Given the description of an element on the screen output the (x, y) to click on. 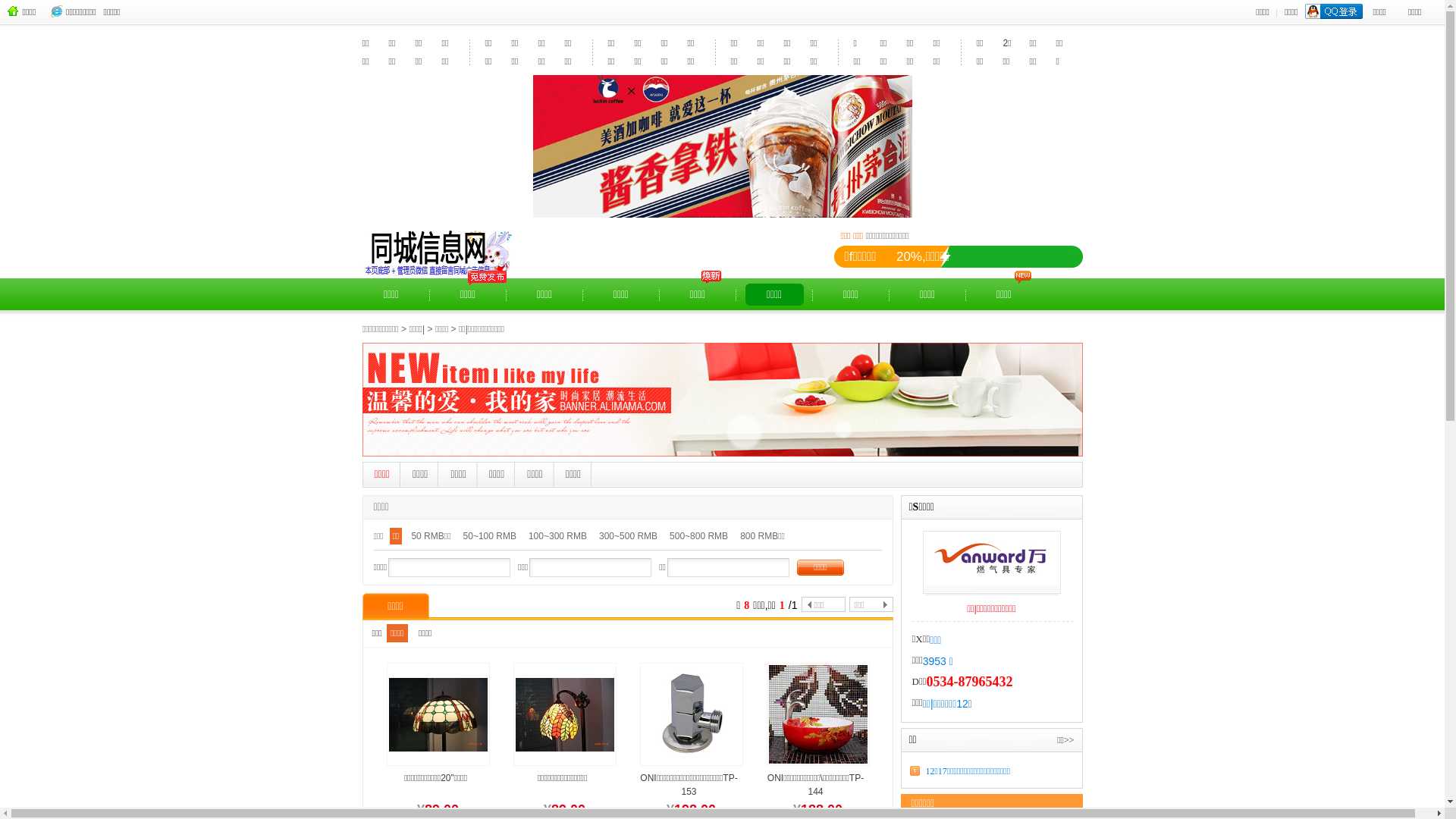
300~500 RMB Element type: text (628, 557)
500~800 RMB Element type: text (698, 557)
100~300 RMB Element type: text (557, 557)
50~100 RMB Element type: text (489, 557)
